Given the description of an element on the screen output the (x, y) to click on. 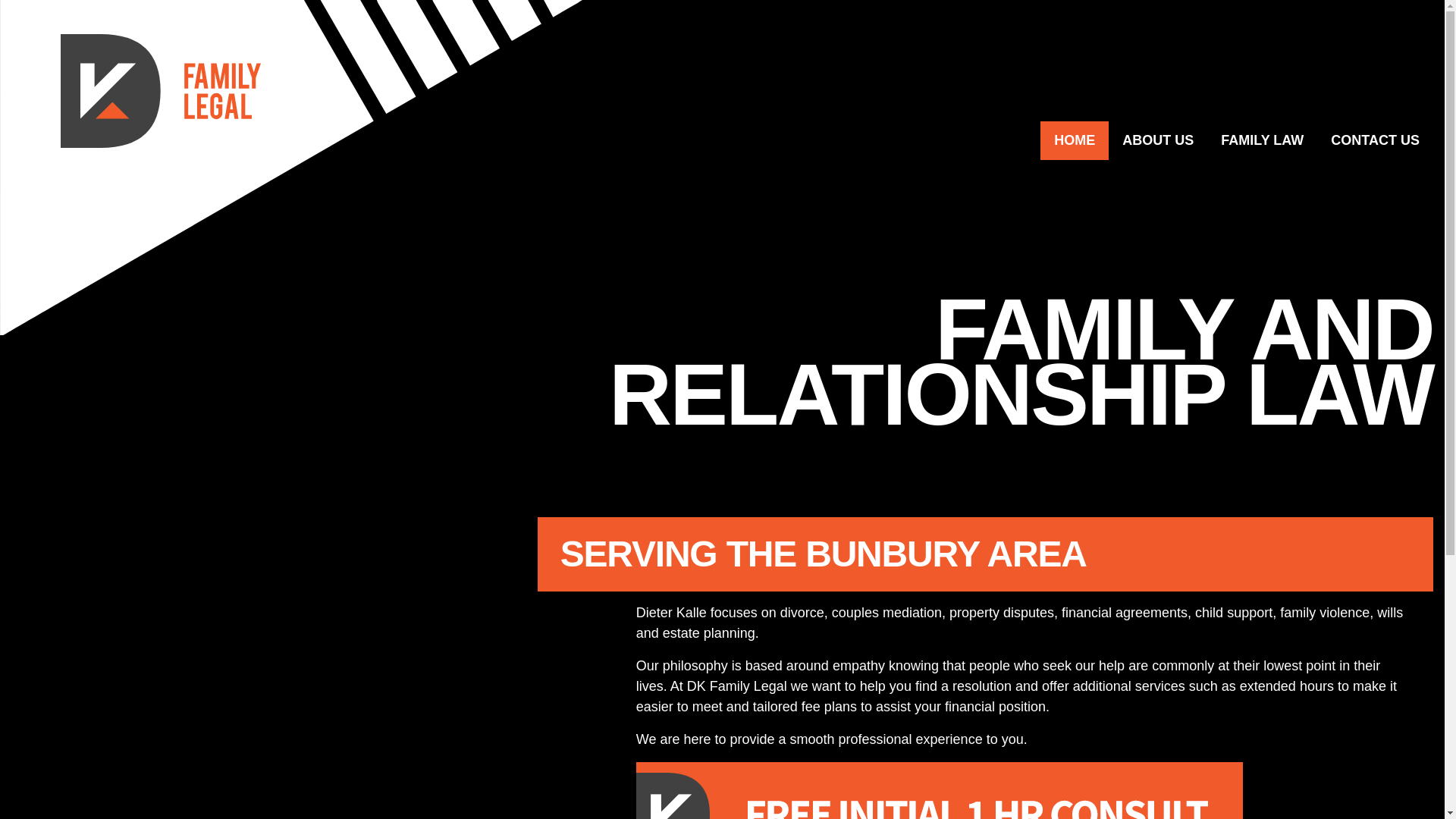
FAMILY LAW Element type: text (1262, 140)
HOME Element type: text (1074, 140)
ABOUT US Element type: text (1157, 140)
CONTACT US Element type: text (1375, 140)
